Given the description of an element on the screen output the (x, y) to click on. 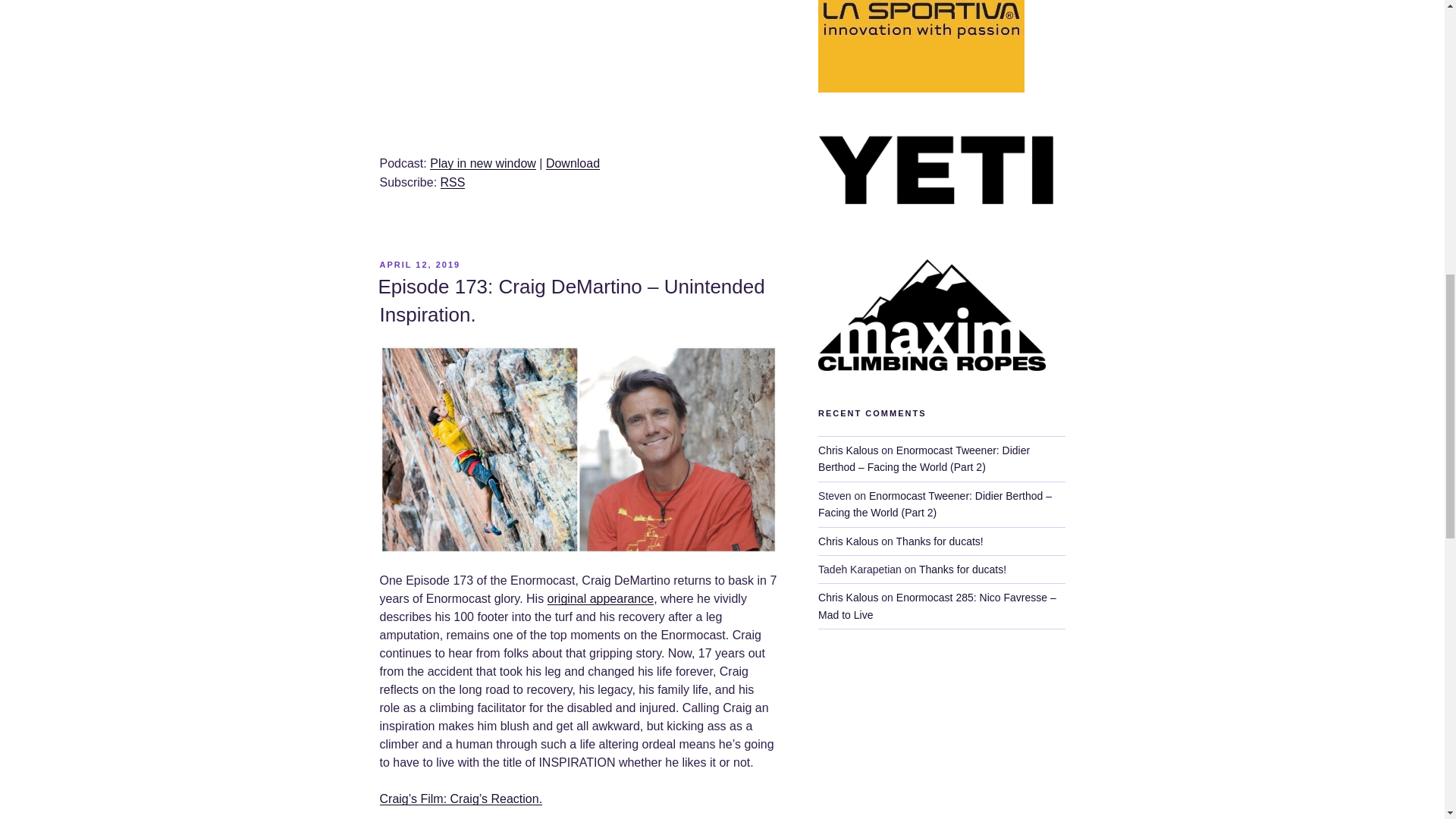
Play in new window (482, 163)
Play in new window (482, 163)
APRIL 12, 2019 (419, 264)
RSS (453, 182)
Blubrry Podcast Player (577, 68)
Download (572, 163)
Subscribe via RSS (453, 182)
original appearance (600, 598)
Download (572, 163)
